Given the description of an element on the screen output the (x, y) to click on. 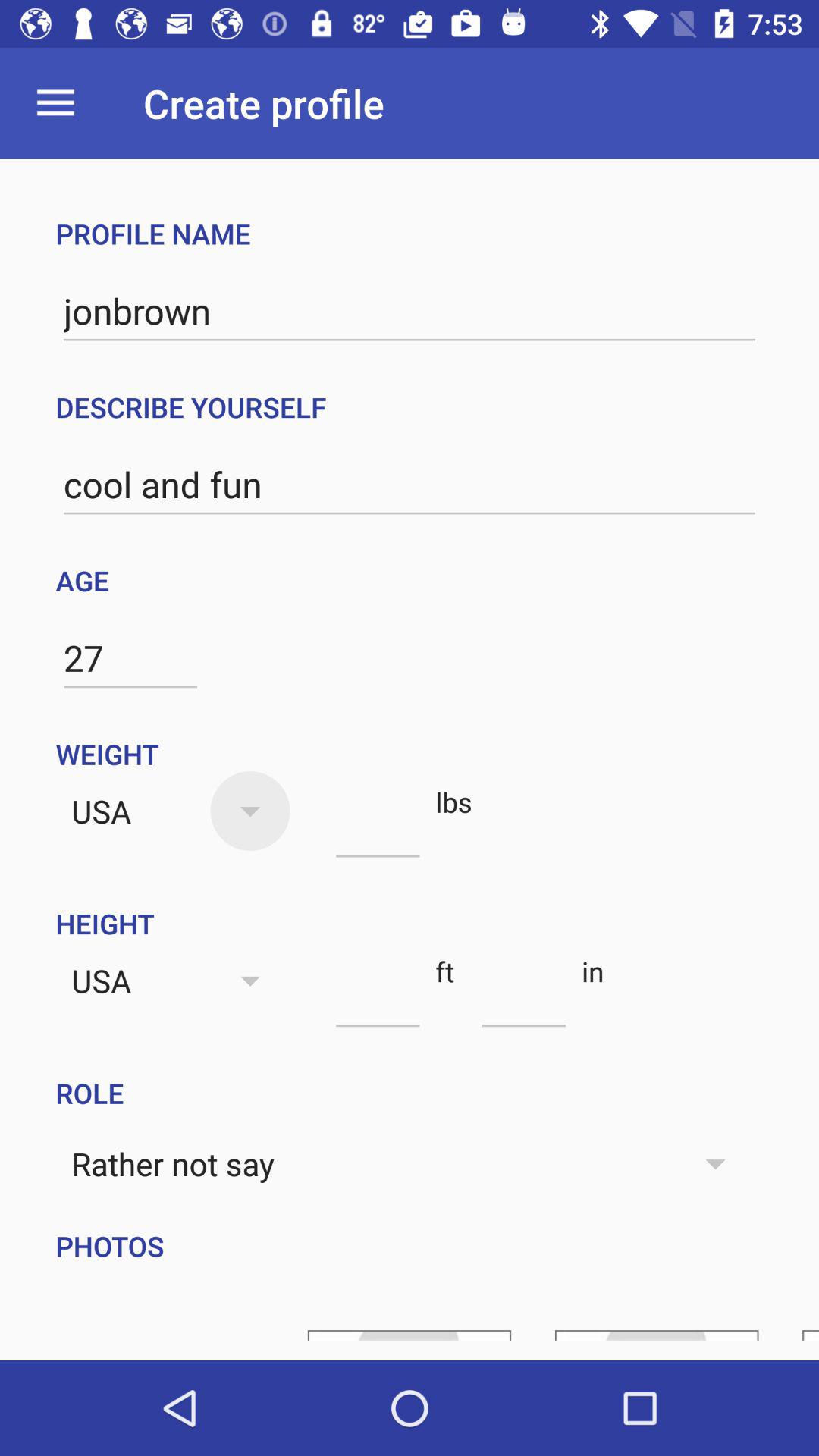
launch 27 item (130, 658)
